Given the description of an element on the screen output the (x, y) to click on. 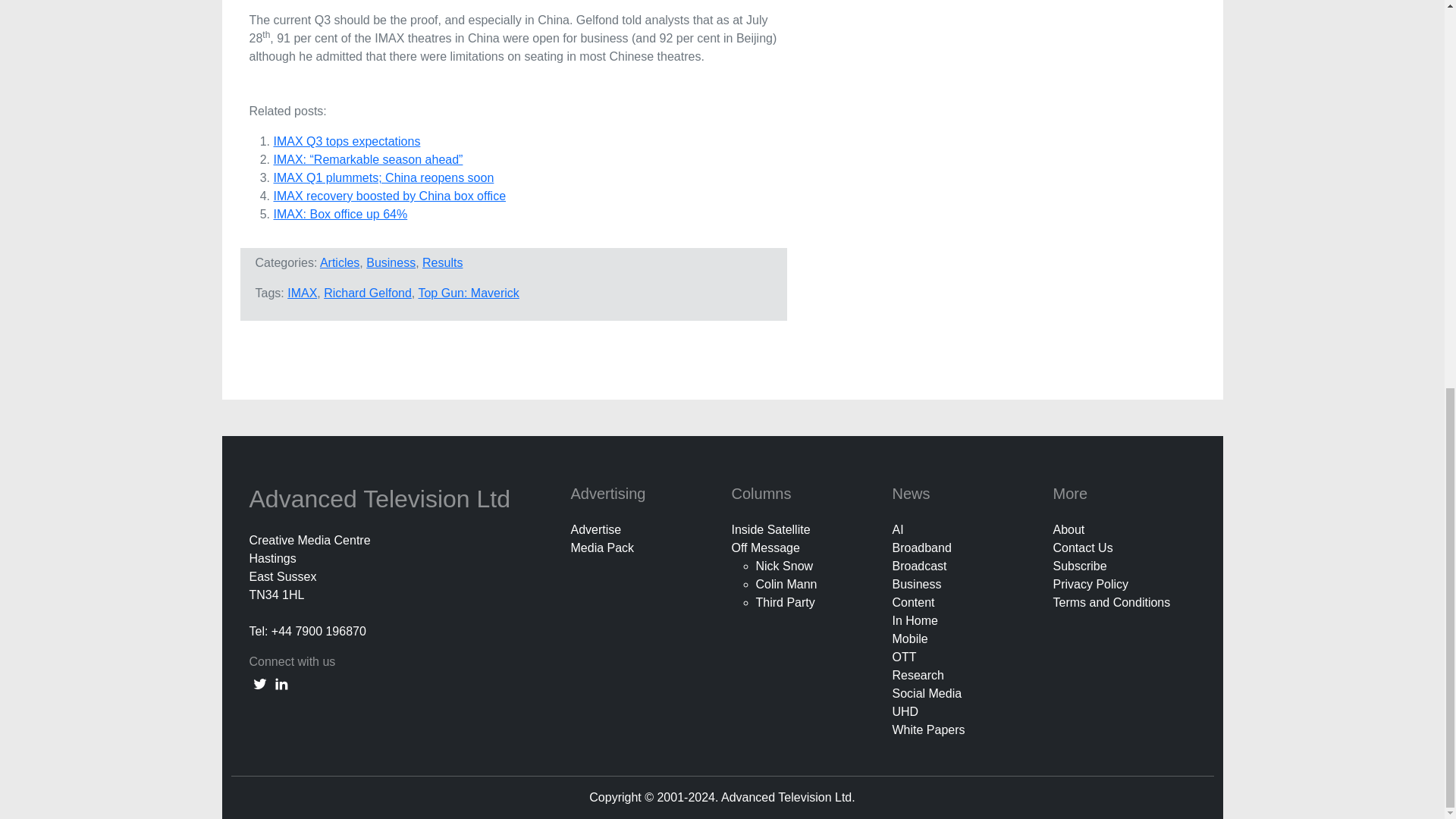
Advanced Television Ltd  (382, 498)
IMAX Q3 tops expectations (346, 141)
Top Gun: Maverick (467, 292)
IMAX Q1 plummets; China reopens soon (383, 177)
Richard Gelfond (367, 292)
IMAX (301, 292)
Business (390, 262)
Results (442, 262)
IMAX Q1 plummets; China reopens soon (383, 177)
Articles (339, 262)
